Given the description of an element on the screen output the (x, y) to click on. 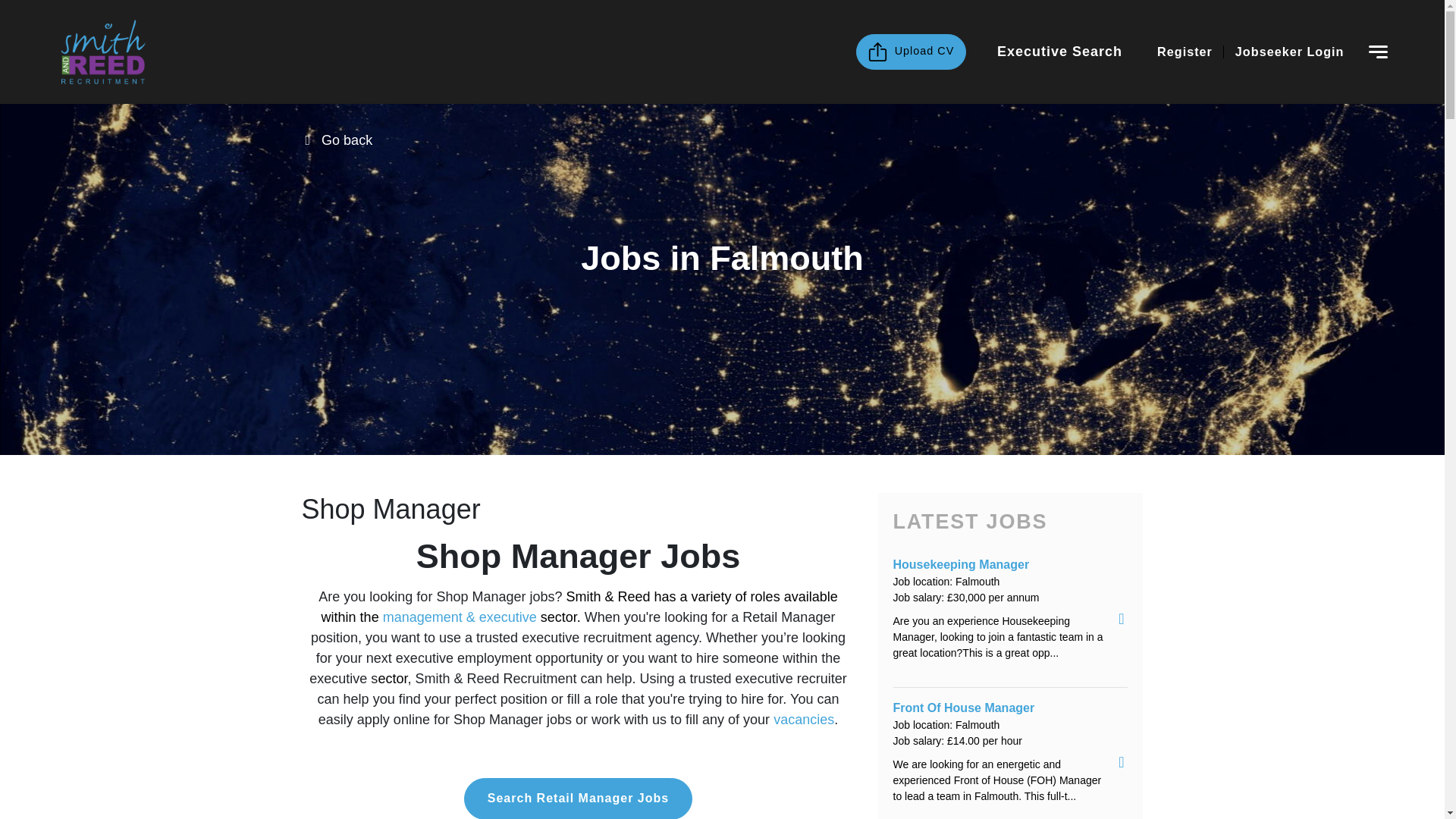
Register (1184, 51)
vacancies (803, 719)
Jobseeker Login (1289, 51)
Go back (346, 140)
Upload CV (911, 51)
Search Retail Manager Jobs (578, 798)
Executive Search (1059, 51)
